Given the description of an element on the screen output the (x, y) to click on. 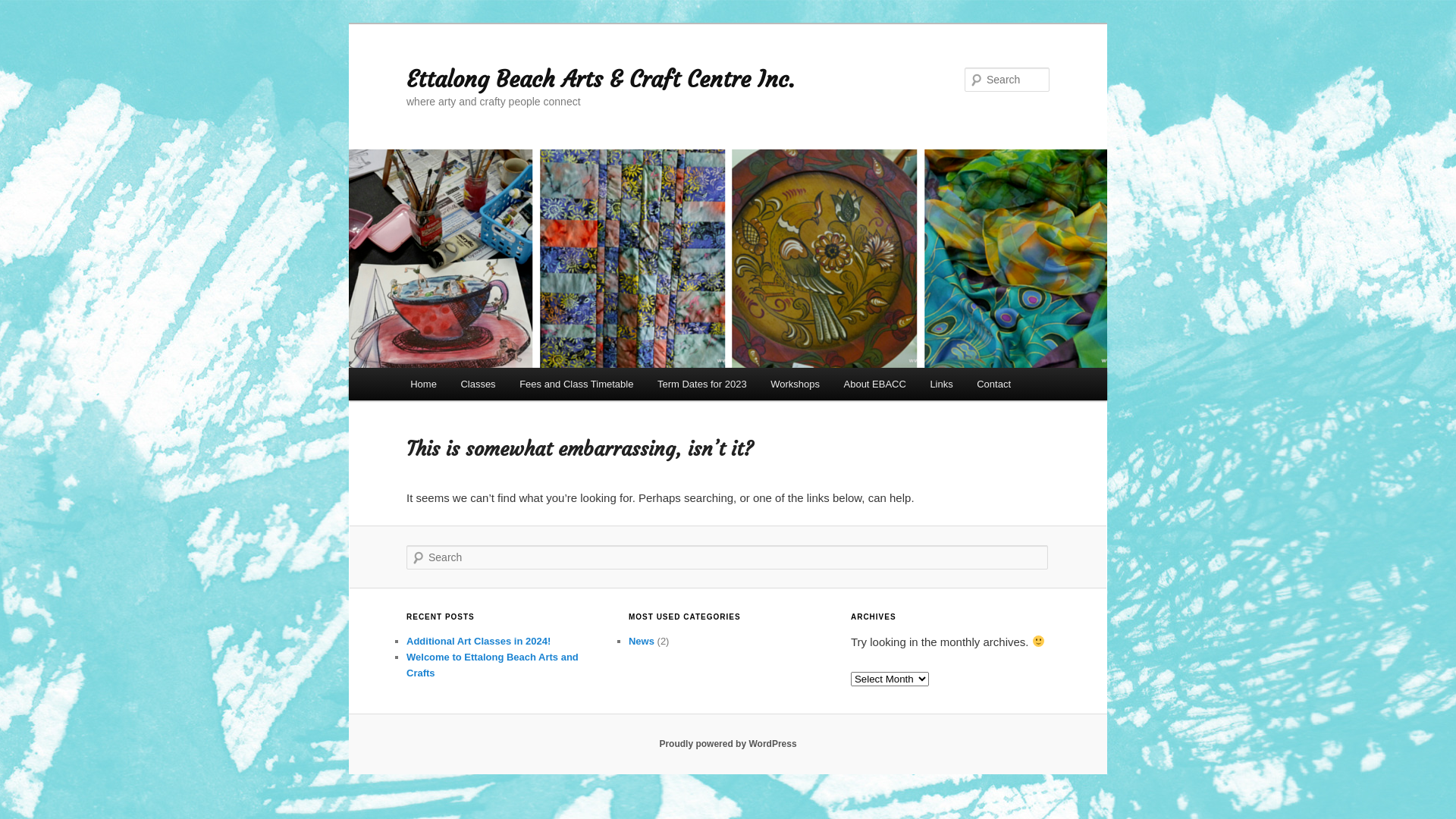
Home Element type: text (423, 383)
Term Dates for 2023 Element type: text (701, 383)
Additional Art Classes in 2024! Element type: text (478, 640)
News Element type: text (641, 640)
Links Element type: text (941, 383)
Classes Element type: text (478, 383)
Welcome to Ettalong Beach Arts and Crafts Element type: text (492, 664)
Ettalong Beach Arts & Craft Centre Inc. Element type: text (600, 79)
Fees and Class Timetable Element type: text (576, 383)
Contact Element type: text (993, 383)
Skip to primary content Element type: text (420, 367)
Workshops Element type: text (794, 383)
Proudly powered by WordPress Element type: text (727, 743)
About EBACC Element type: text (874, 383)
Search Element type: text (24, 8)
